Given the description of an element on the screen output the (x, y) to click on. 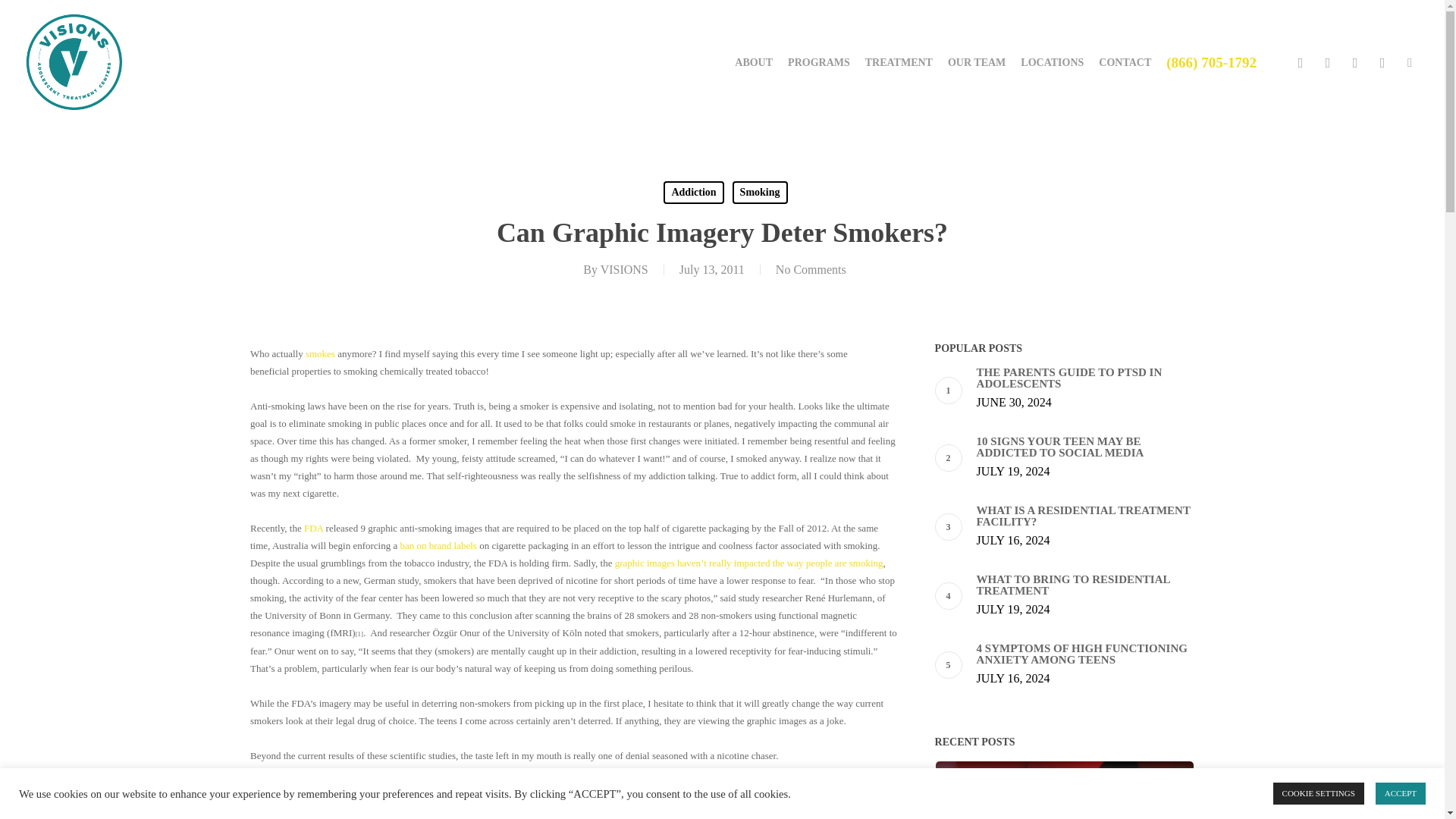
TREATMENT (898, 62)
Posts by VISIONS (623, 269)
ABOUT (753, 62)
PROGRAMS (818, 62)
